Given the description of an element on the screen output the (x, y) to click on. 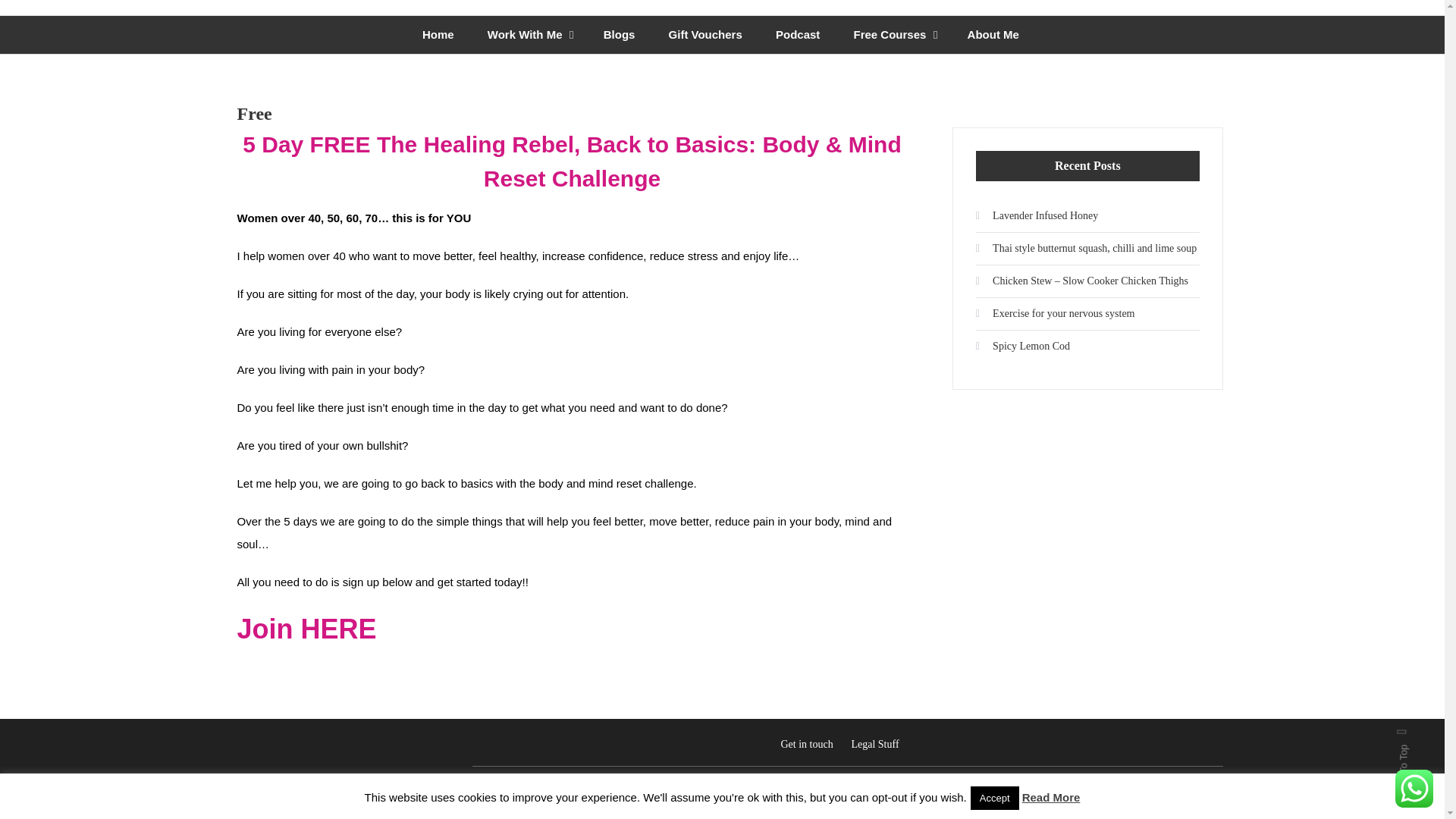
Work With Me (522, 34)
Lavender Infused Honey (1036, 215)
Exercise for your nervous system (1054, 313)
Spicy Lemon Cod (1022, 346)
Accept (995, 797)
Gift Vouchers (705, 34)
Podcast (797, 34)
About Me (992, 34)
Join HERE (305, 629)
Thai style butternut squash, chilli and lime soup (1085, 248)
Read More (1051, 797)
Home (437, 34)
Legal Stuff (874, 744)
Free Courses (887, 34)
CodeVibrant (1196, 785)
